Given the description of an element on the screen output the (x, y) to click on. 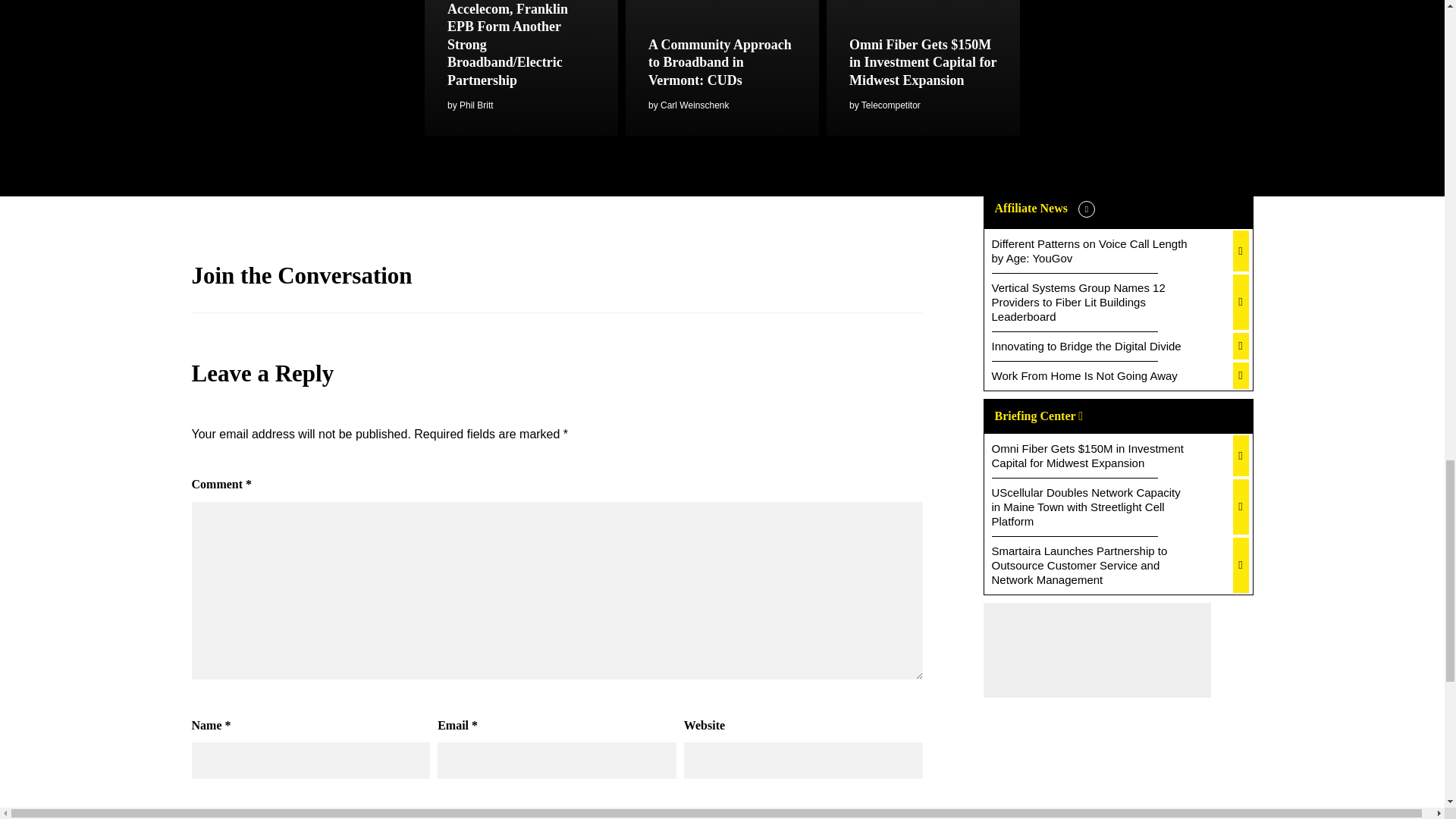
Post Comment (857, 814)
